Given the description of an element on the screen output the (x, y) to click on. 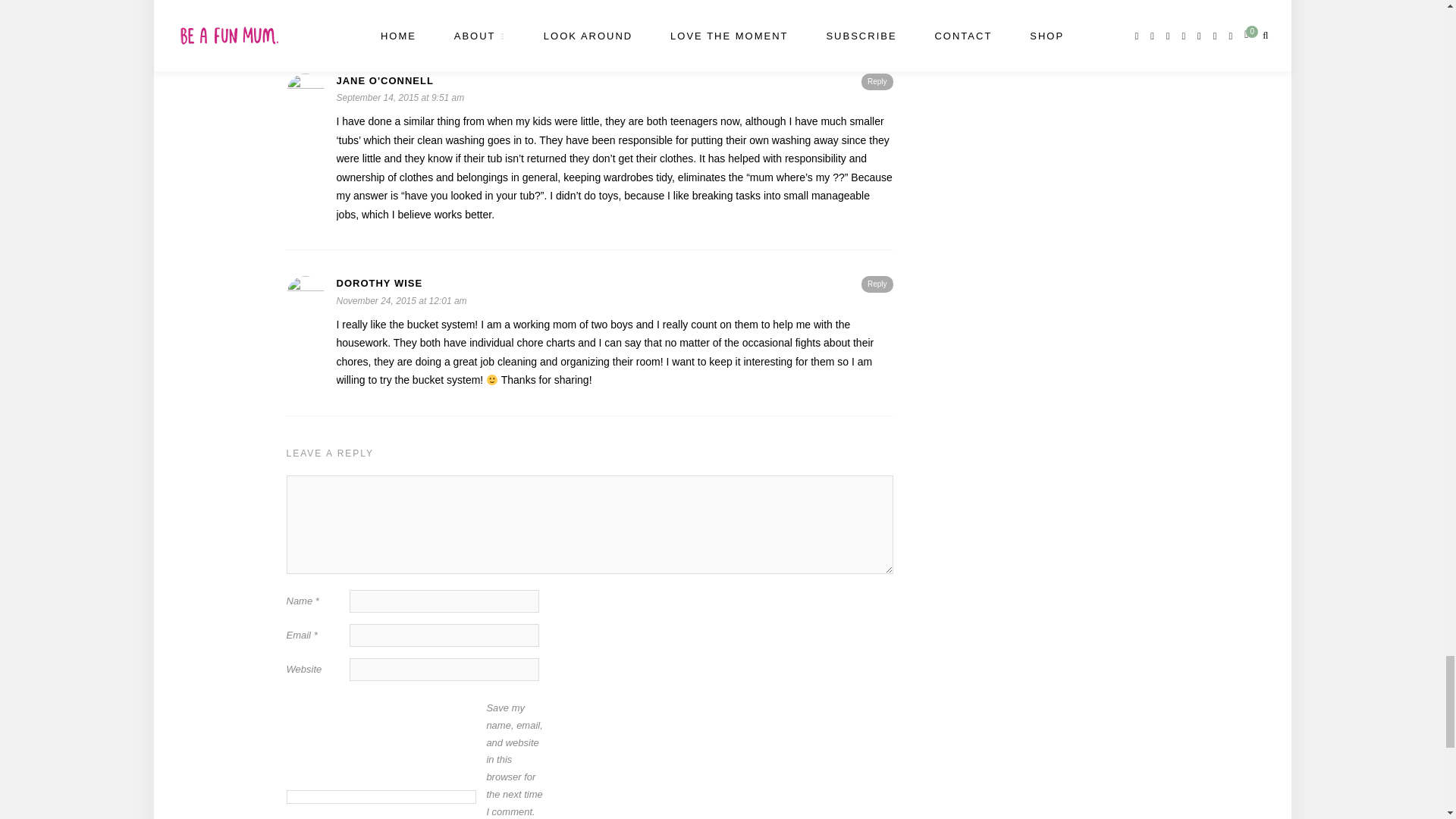
yes (381, 796)
